Given the description of an element on the screen output the (x, y) to click on. 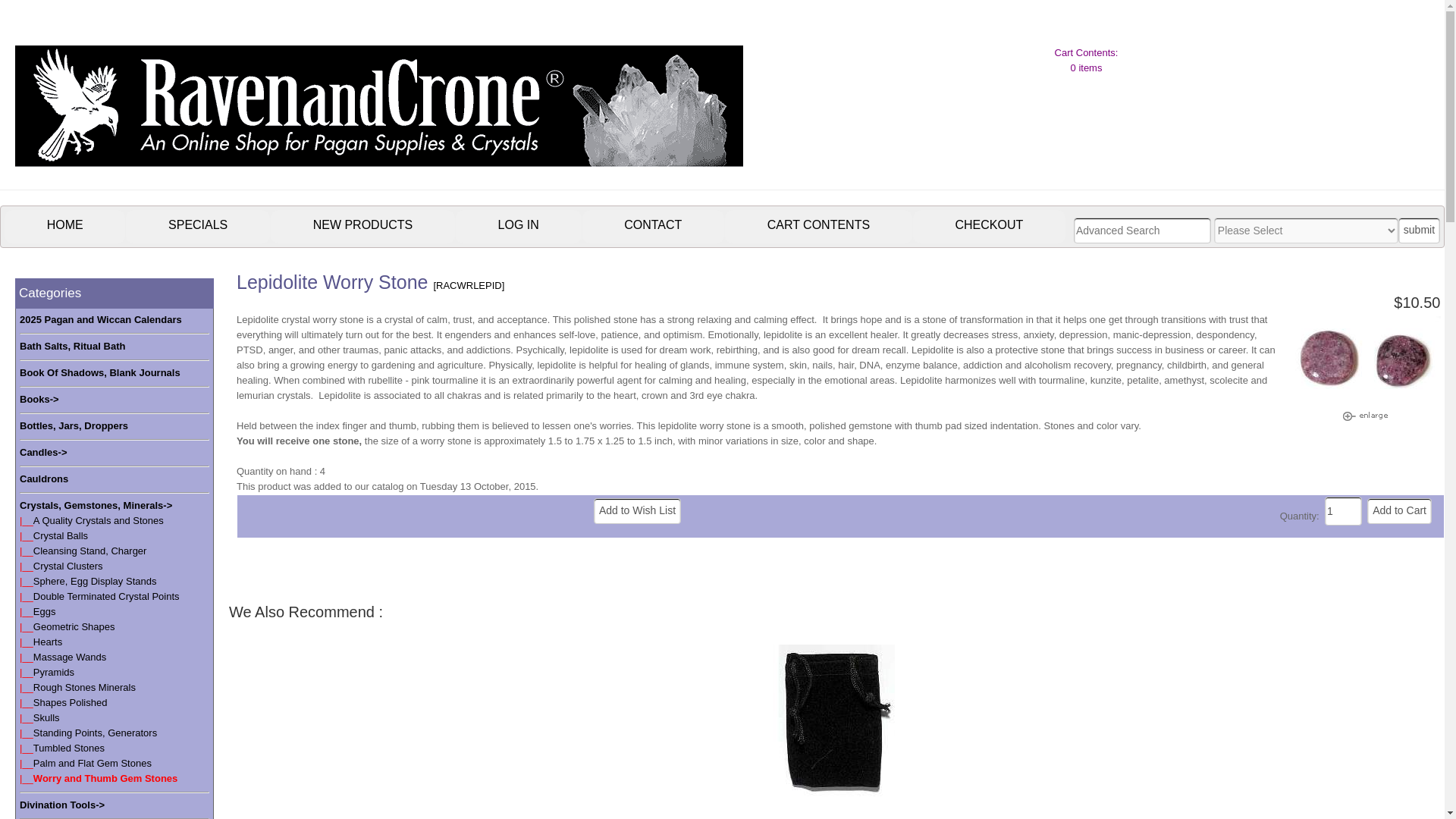
Cleansing Stand, Charger (90, 550)
Add to Wish List (637, 510)
Double Terminated Crystal Points (106, 596)
Add to Wish List (637, 510)
A Quality Crystals and Stones (98, 520)
Add to Cart (1399, 510)
 Click to enlarge  (1365, 416)
2025 Pagan and Wiccan Calendars (101, 319)
Sphere, Egg Display Stands (95, 581)
Bath Salts, Ritual Bath (72, 346)
Add to Cart (1399, 510)
 RV34BK: Black Velveteen Bag 3 x 4  (837, 720)
Crystal Clusters (68, 566)
Add to Cart (1399, 510)
Eggs (44, 611)
